Given the description of an element on the screen output the (x, y) to click on. 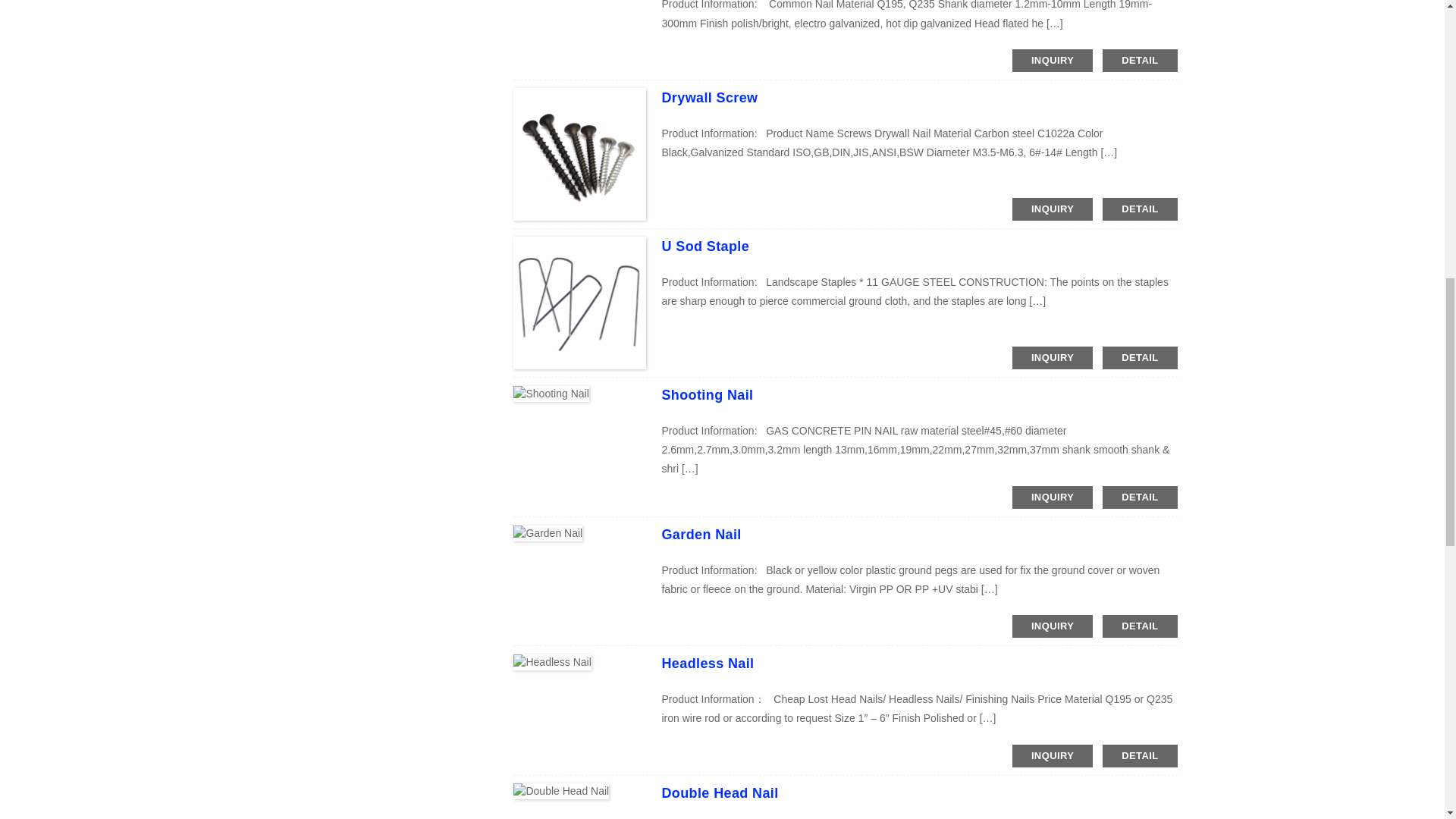
DETAIL (1139, 60)
DETAIL (1139, 209)
Drywall Screw (709, 97)
Drywall Screw (709, 97)
U Sod Staple (705, 246)
U Sod Staple (705, 246)
DETAIL (1139, 357)
INQUIRY (1052, 357)
INQUIRY (1052, 497)
INQUIRY (1052, 60)
Shooting Nail (706, 394)
INQUIRY (1052, 209)
